Given the description of an element on the screen output the (x, y) to click on. 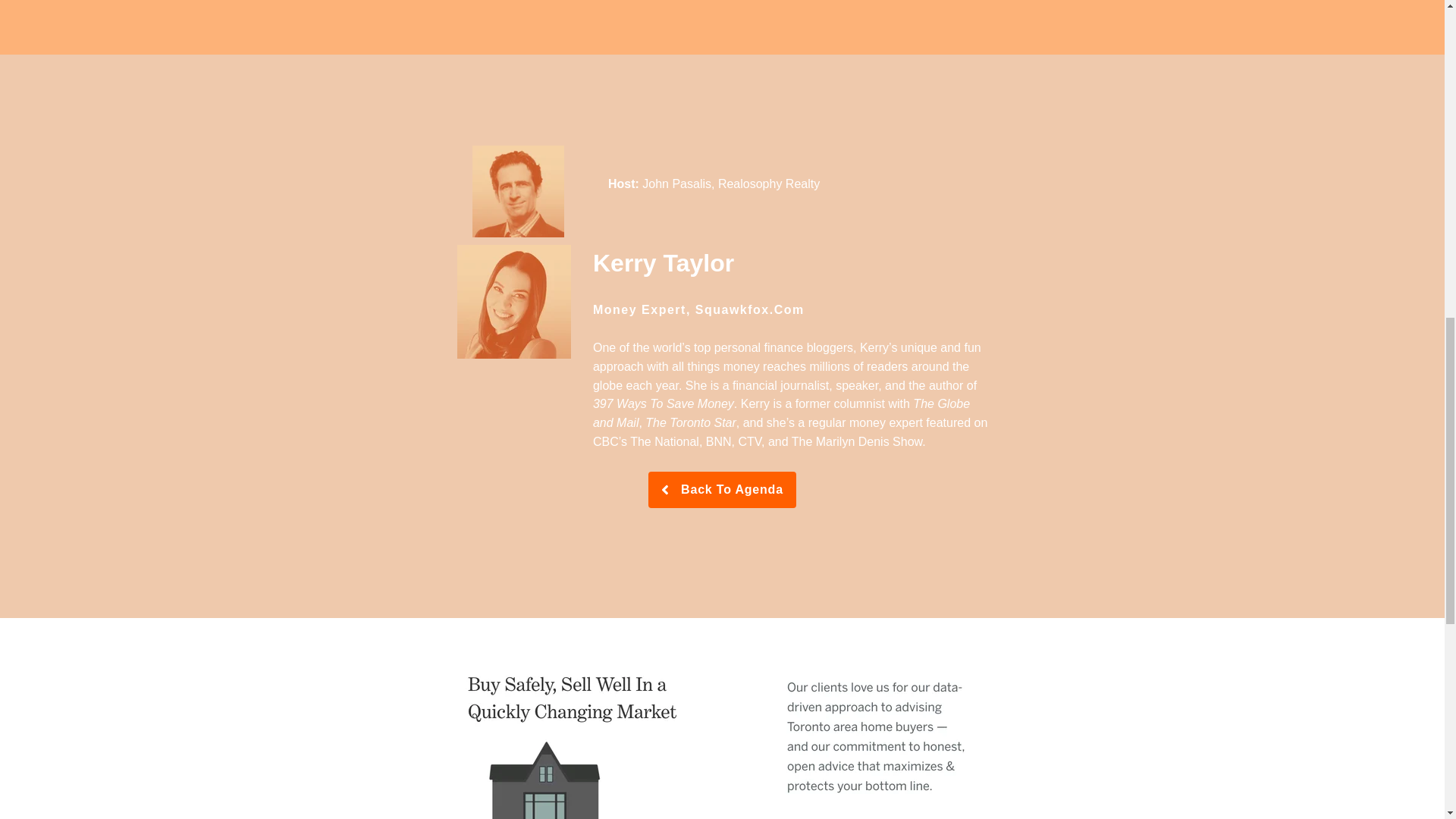
host-john-pasalis (517, 191)
Back To Agenda (721, 489)
